Given the description of an element on the screen output the (x, y) to click on. 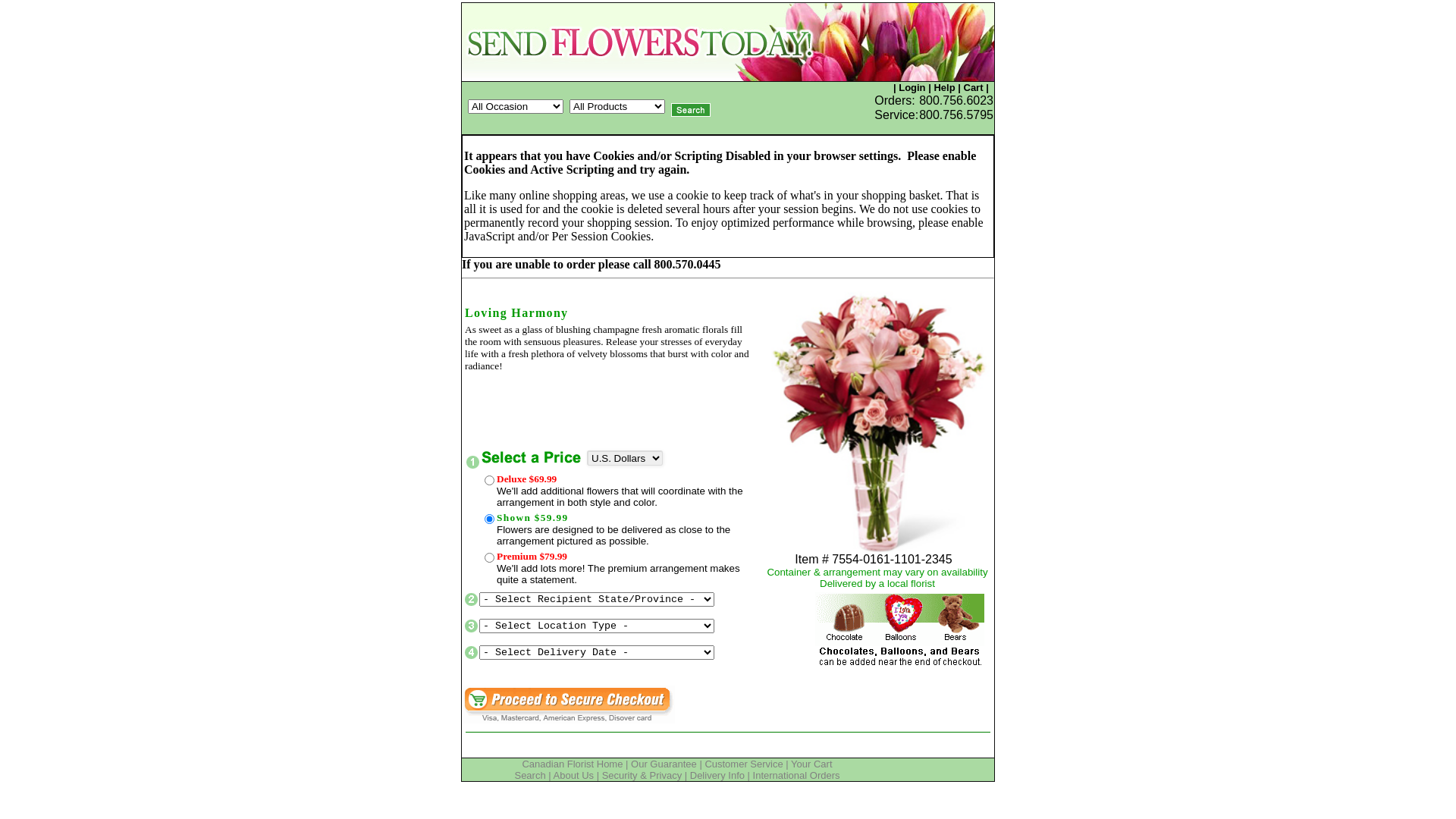
Login Element type: text (911, 87)
About Us Element type: text (573, 775)
International Orders Element type: text (796, 775)
Your Cart Element type: text (810, 763)
Canadian Florist Home Element type: text (571, 763)
Our Guarantee Element type: text (663, 763)
Cart Element type: text (972, 87)
Security & Privacy Element type: text (641, 775)
Customer Service Element type: text (743, 763)
Delivery Info Element type: text (717, 775)
Help Element type: text (943, 87)
Search Element type: text (529, 775)
102-7555-0-R Element type: text (489, 480)
104-7556-99.99-R Element type: text (489, 557)
